Given the description of an element on the screen output the (x, y) to click on. 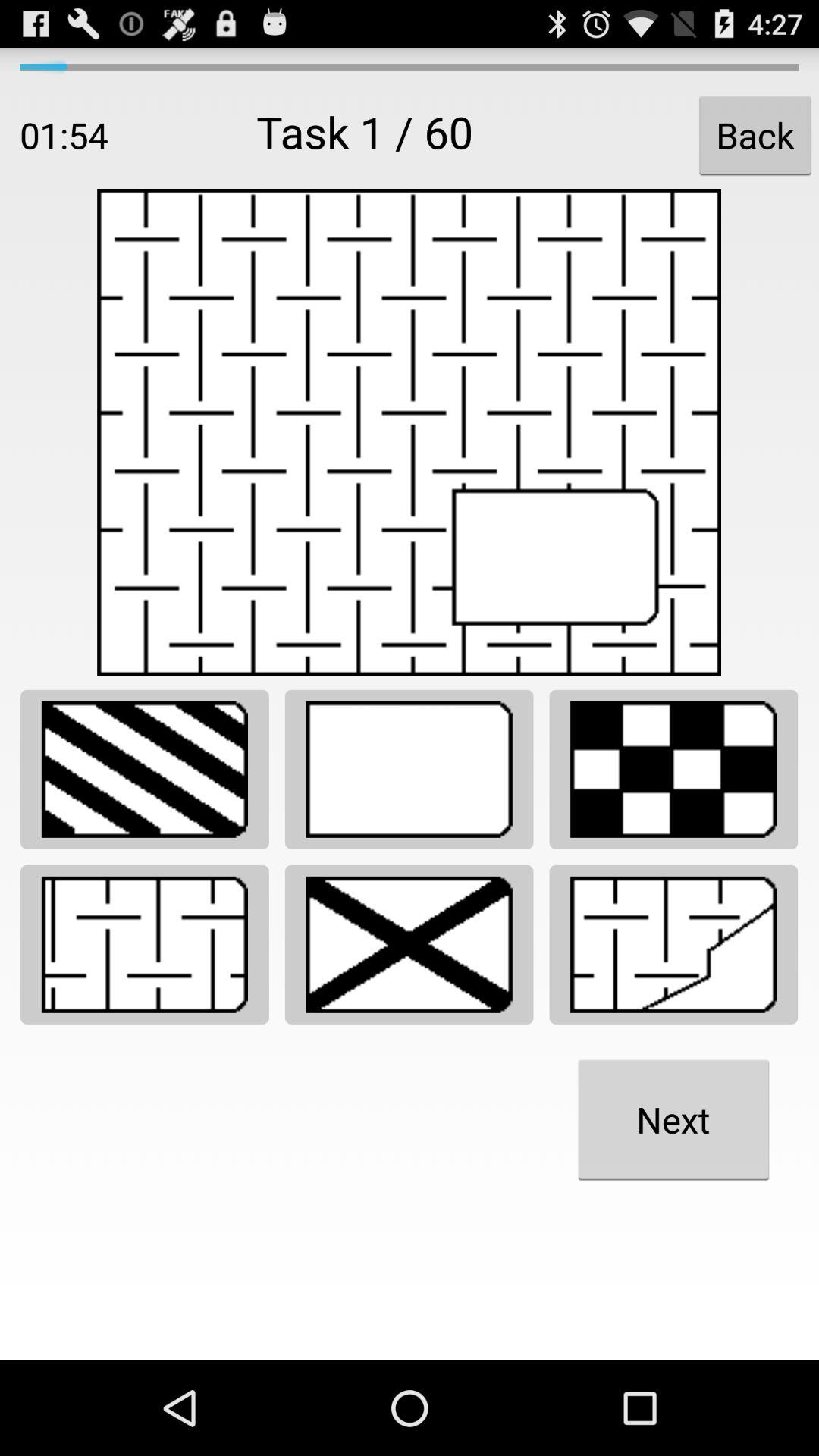
flip until the next item (673, 1119)
